Given the description of an element on the screen output the (x, y) to click on. 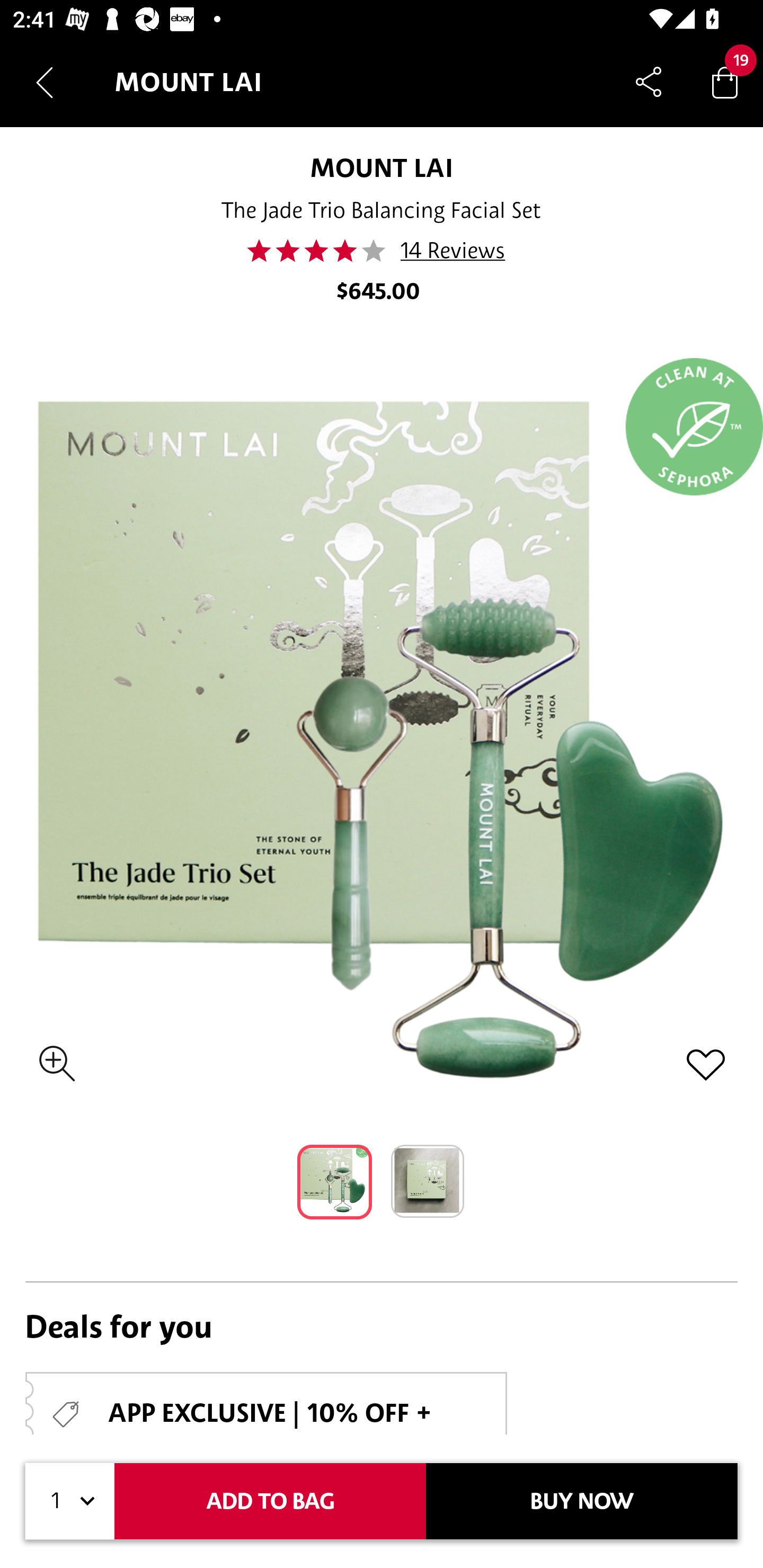
Navigate up (44, 82)
Share (648, 81)
Bag (724, 81)
MOUNT LAI (381, 167)
39.0 14 Reviews (381, 250)
1 (69, 1500)
ADD TO BAG (269, 1500)
BUY NOW (581, 1500)
